Given the description of an element on the screen output the (x, y) to click on. 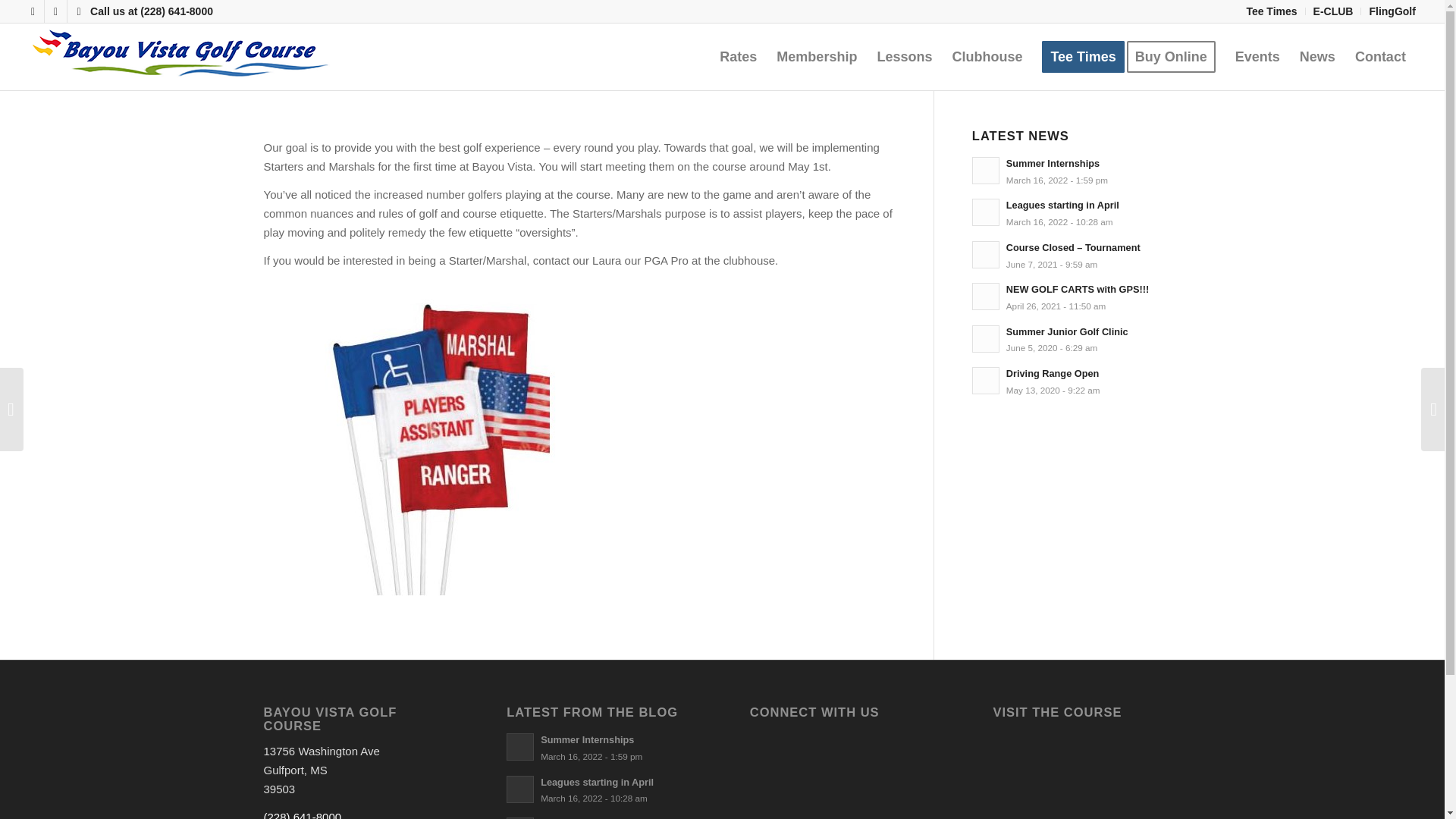
Driving Range Open (1076, 380)
Summer Junior Golf Clinic (1076, 339)
Membership (816, 56)
Facebook (1076, 339)
Tee Times (1076, 296)
Rss (1076, 170)
Events (32, 11)
